Given the description of an element on the screen output the (x, y) to click on. 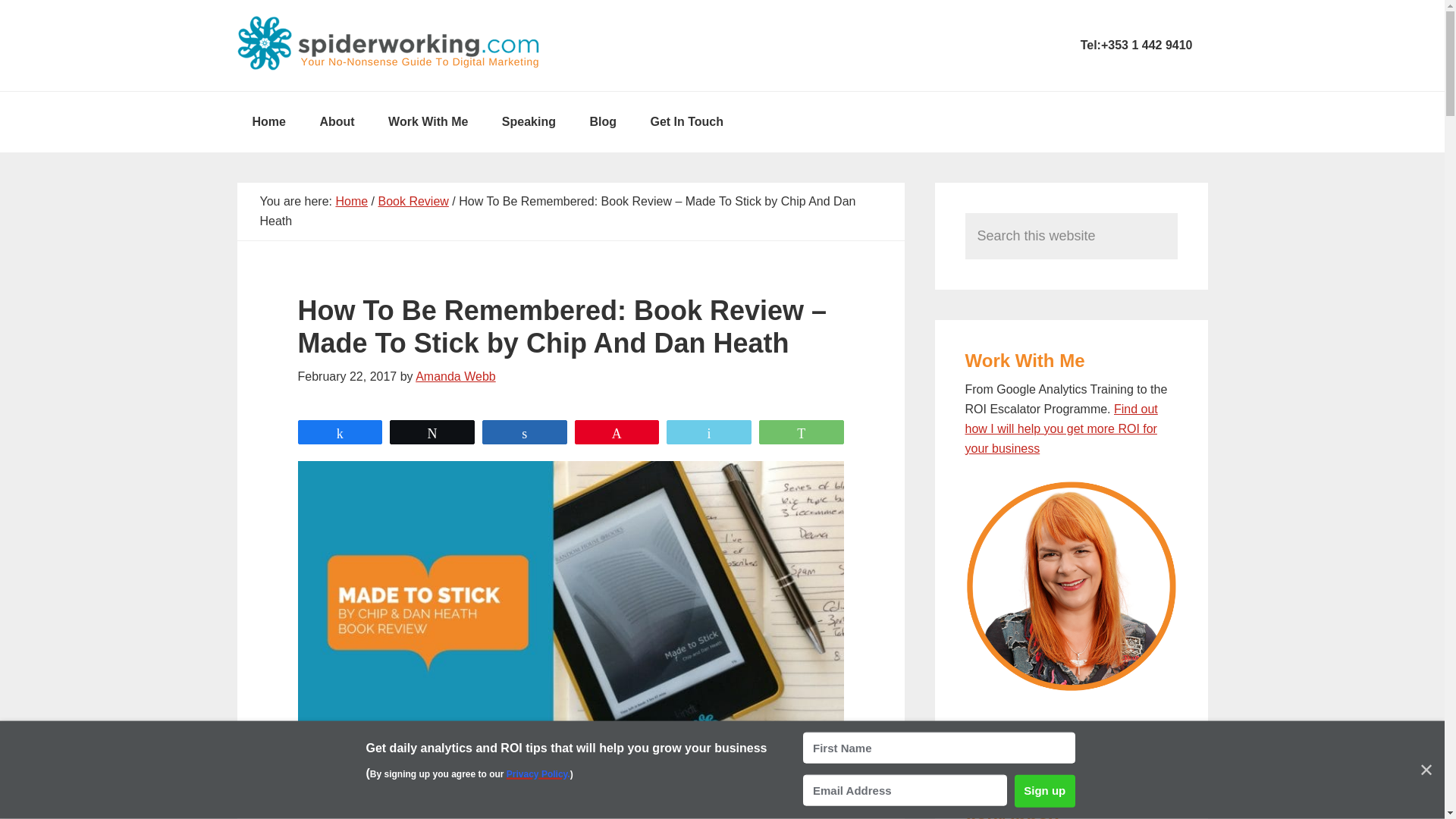
About (336, 121)
Amanda Webb (455, 376)
Home (267, 121)
Speaking (528, 121)
Blog (602, 121)
Home (351, 201)
Book Review (412, 201)
Work With Me (427, 121)
Home (267, 121)
Get In Touch (686, 121)
